Given the description of an element on the screen output the (x, y) to click on. 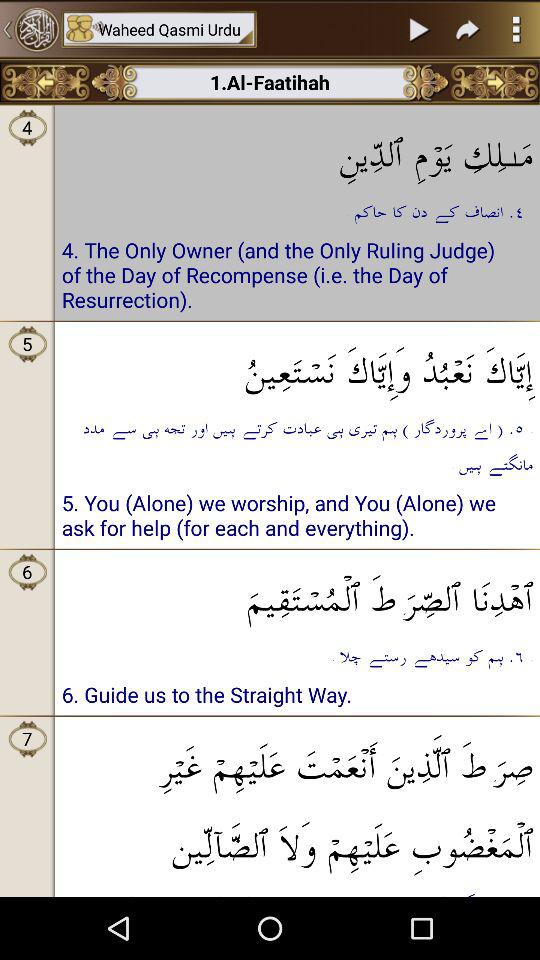
previous page (45, 82)
